Given the description of an element on the screen output the (x, y) to click on. 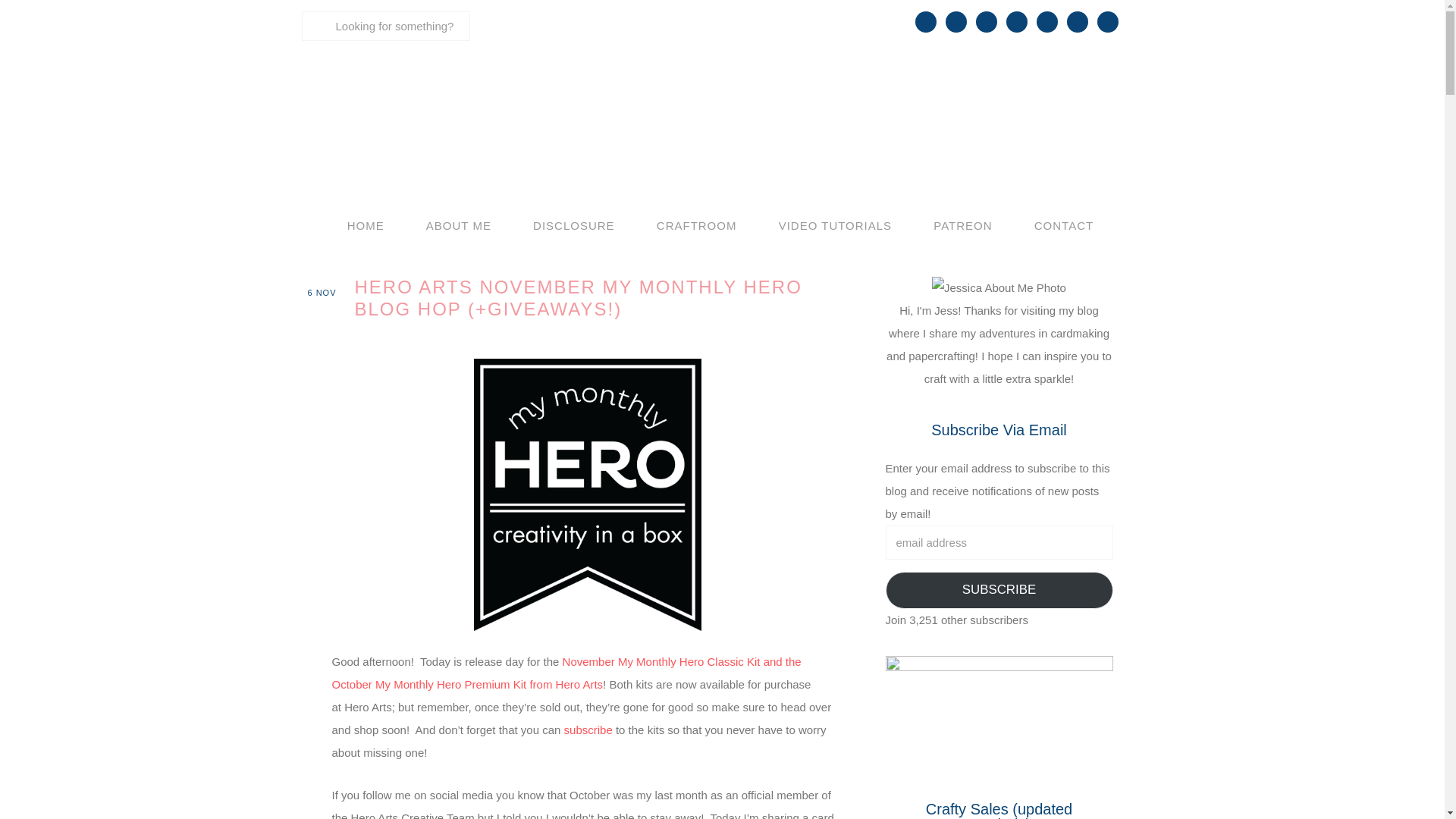
subscribe (588, 729)
ALL THE SPARKLE (721, 109)
HOME (366, 225)
DISCLOSURE (573, 225)
CRAFTROOM (696, 225)
ABOUT ME (459, 225)
VIDEO TUTORIALS (835, 225)
PATREON (962, 225)
CONTACT (1063, 225)
